Given the description of an element on the screen output the (x, y) to click on. 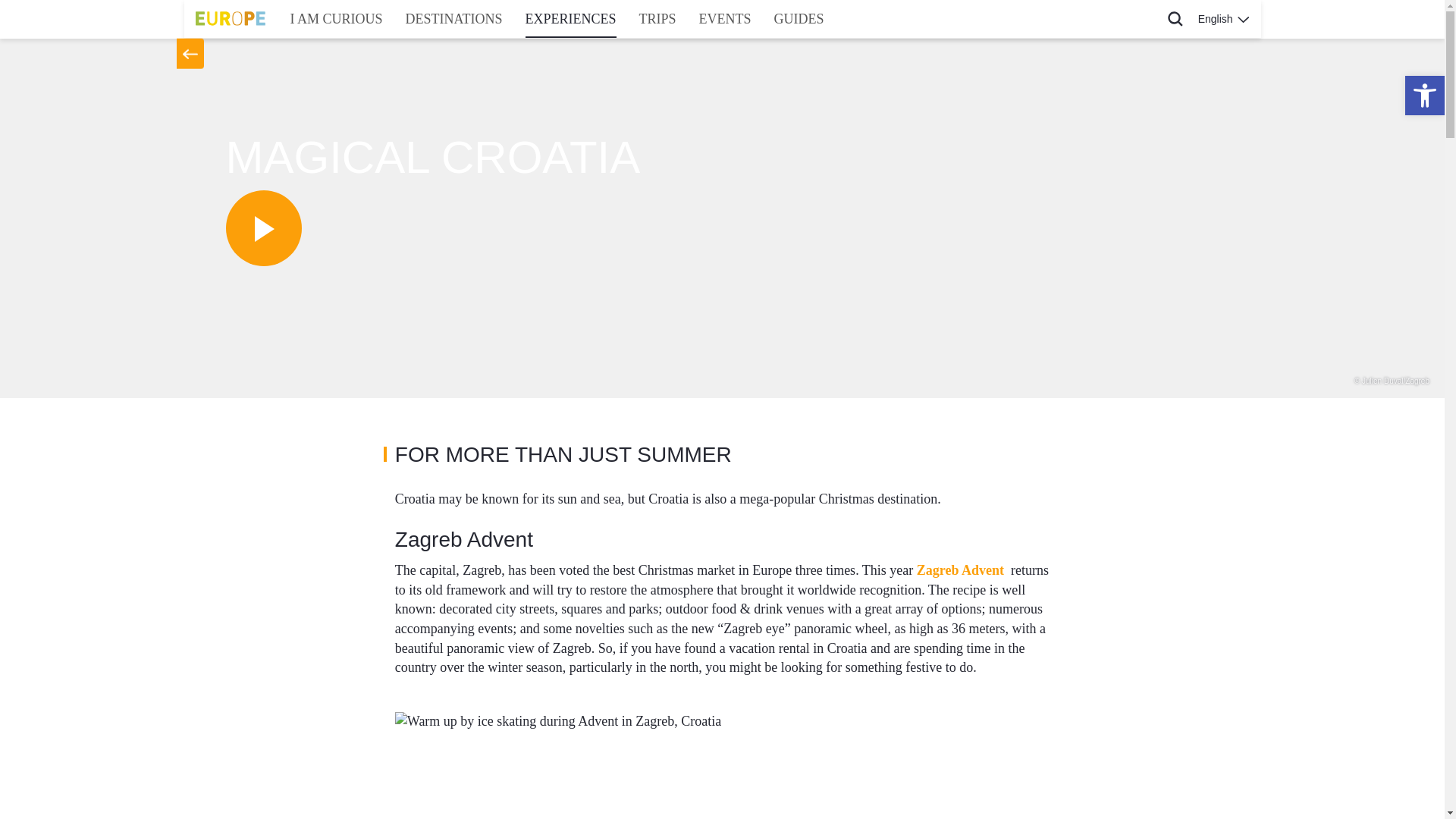
Zagreb Advent (960, 570)
I am curious (336, 18)
Destinations (453, 18)
Events (724, 18)
English (1223, 18)
Accessibility Tools (1424, 95)
EVENTS (724, 18)
Experiences (570, 18)
EXPERIENCES (570, 18)
Guides (798, 18)
